Given the description of an element on the screen output the (x, y) to click on. 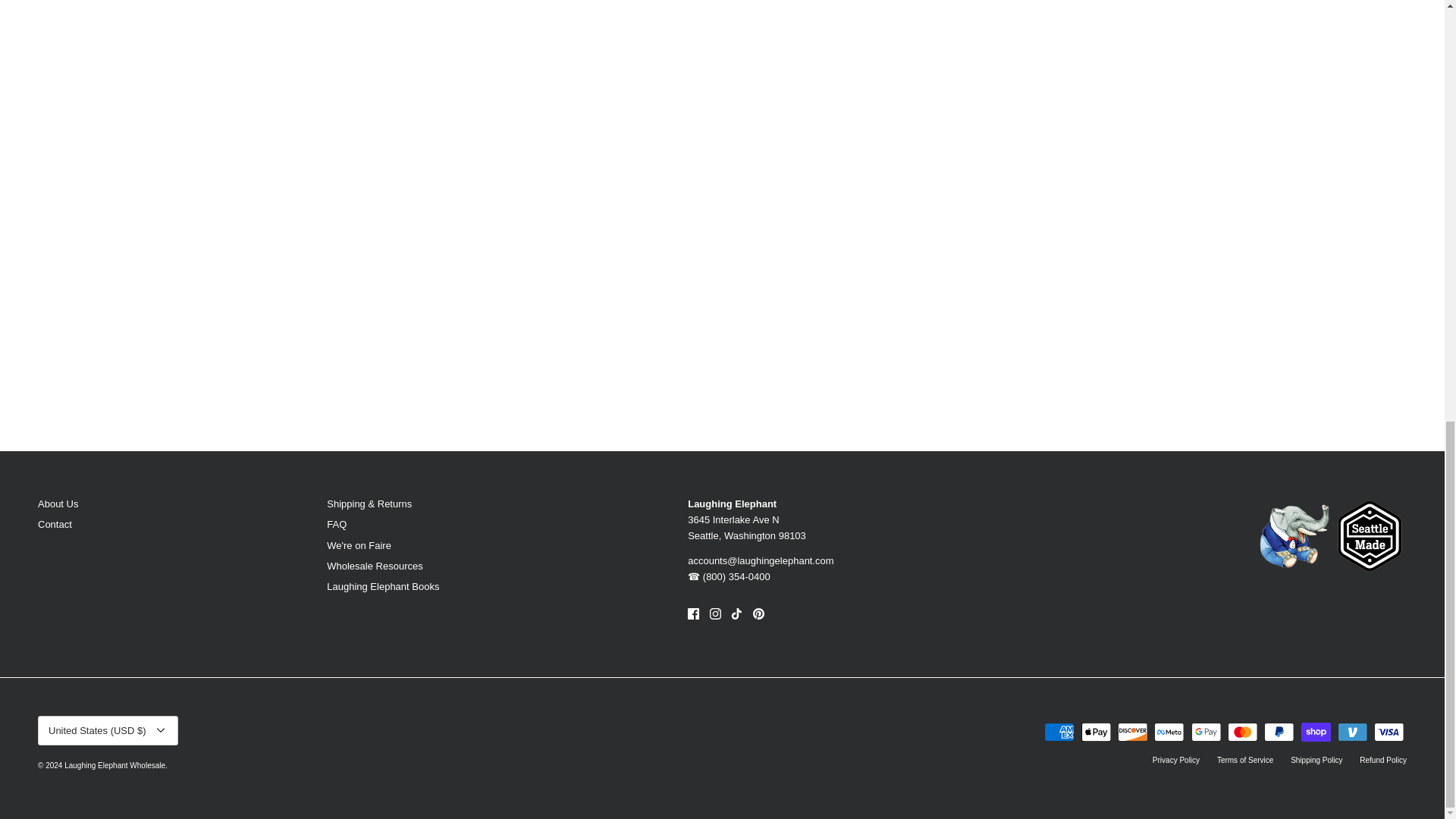
Pinterest (758, 613)
American Express (1058, 732)
Facebook (692, 613)
Instagram (715, 613)
